Given the description of an element on the screen output the (x, y) to click on. 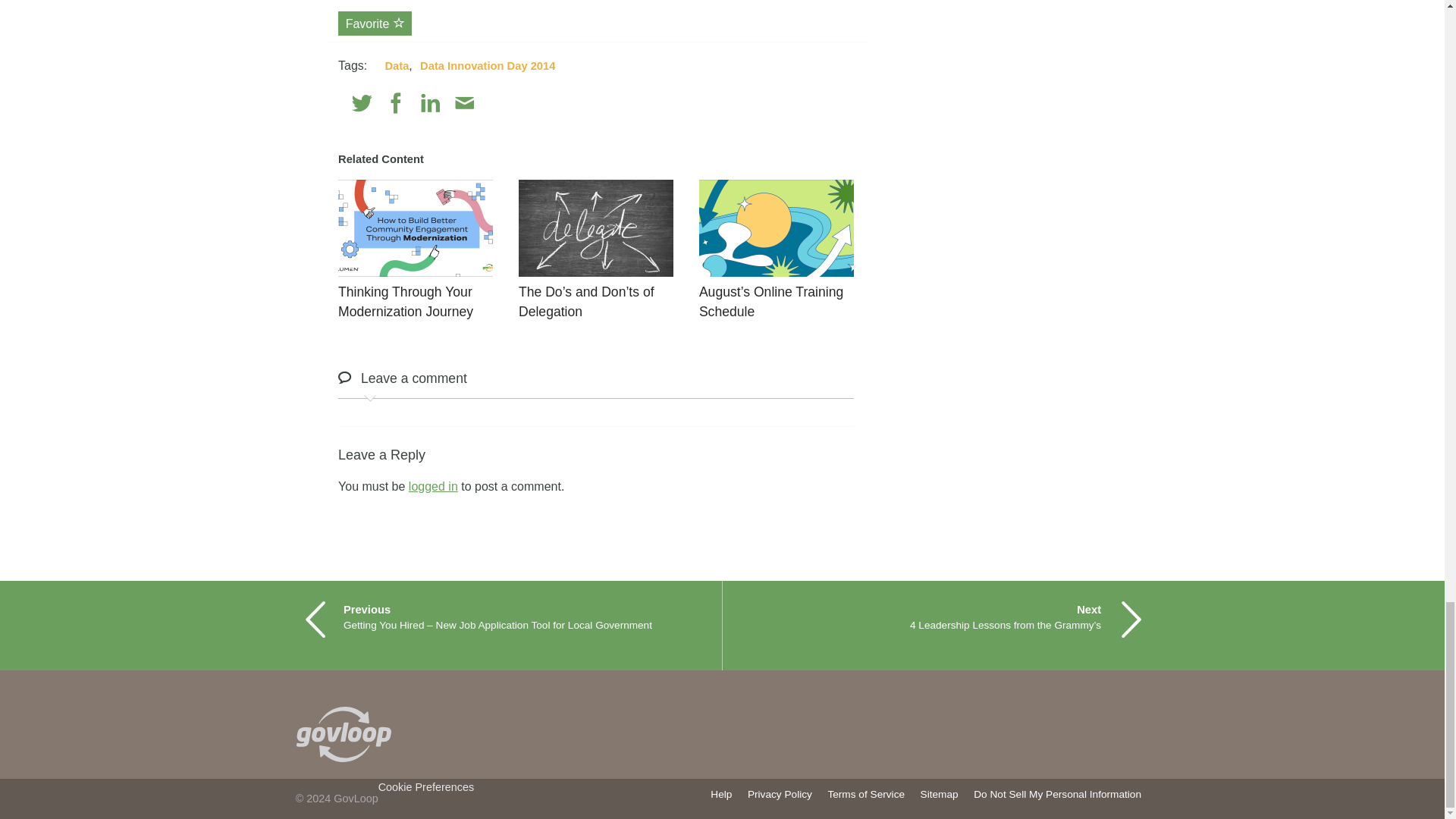
Twitter (362, 103)
Print (497, 103)
Email (464, 103)
Linkedin (430, 103)
Facebook (395, 103)
